Given the description of an element on the screen output the (x, y) to click on. 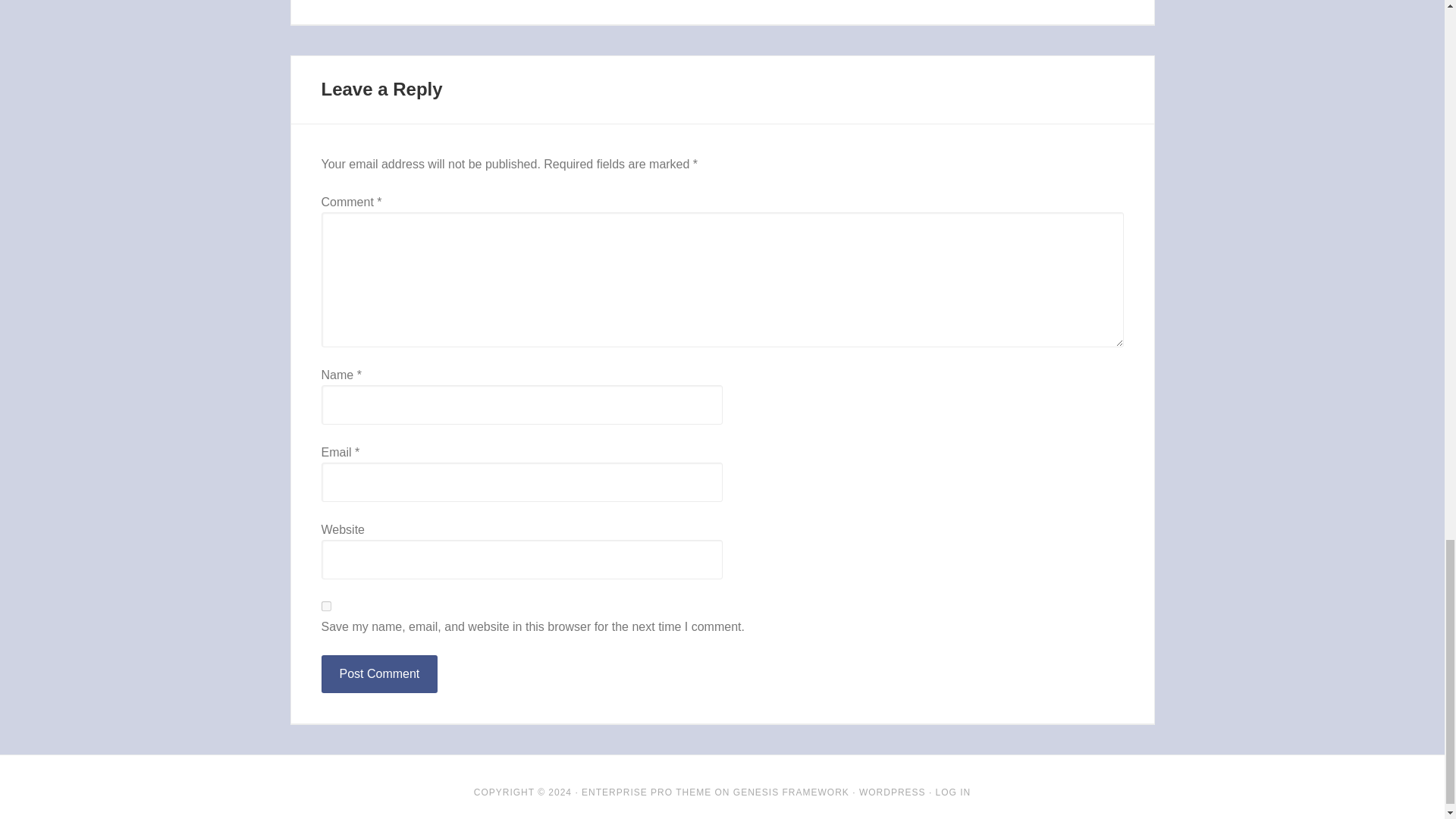
LOG IN (953, 792)
ENTERPRISE PRO THEME (645, 792)
WORDPRESS (892, 792)
yes (326, 605)
GENESIS FRAMEWORK (790, 792)
Post Comment (379, 673)
Post Comment (379, 673)
